Given the description of an element on the screen output the (x, y) to click on. 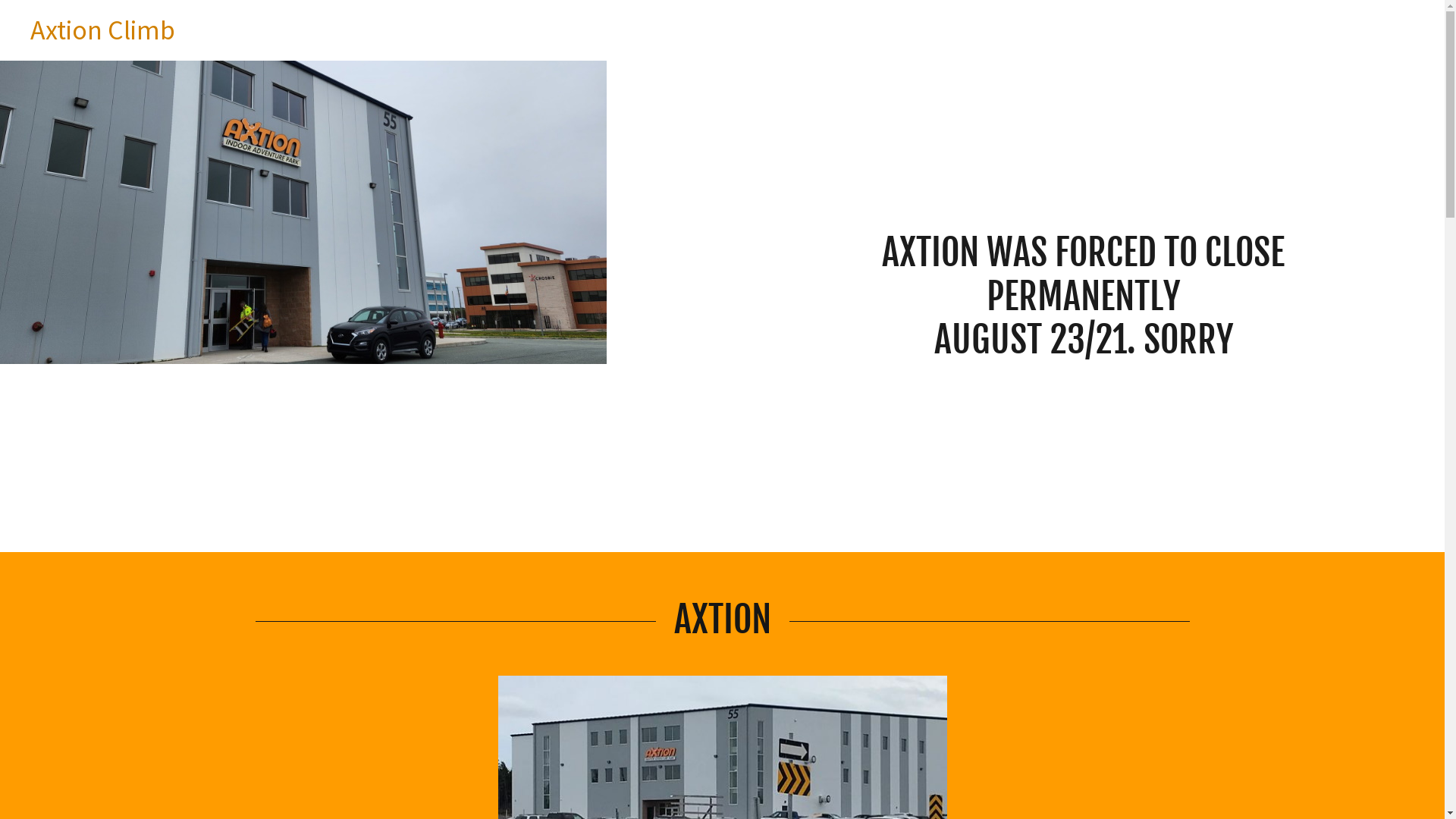
Axtion Climb Element type: text (102, 34)
